Given the description of an element on the screen output the (x, y) to click on. 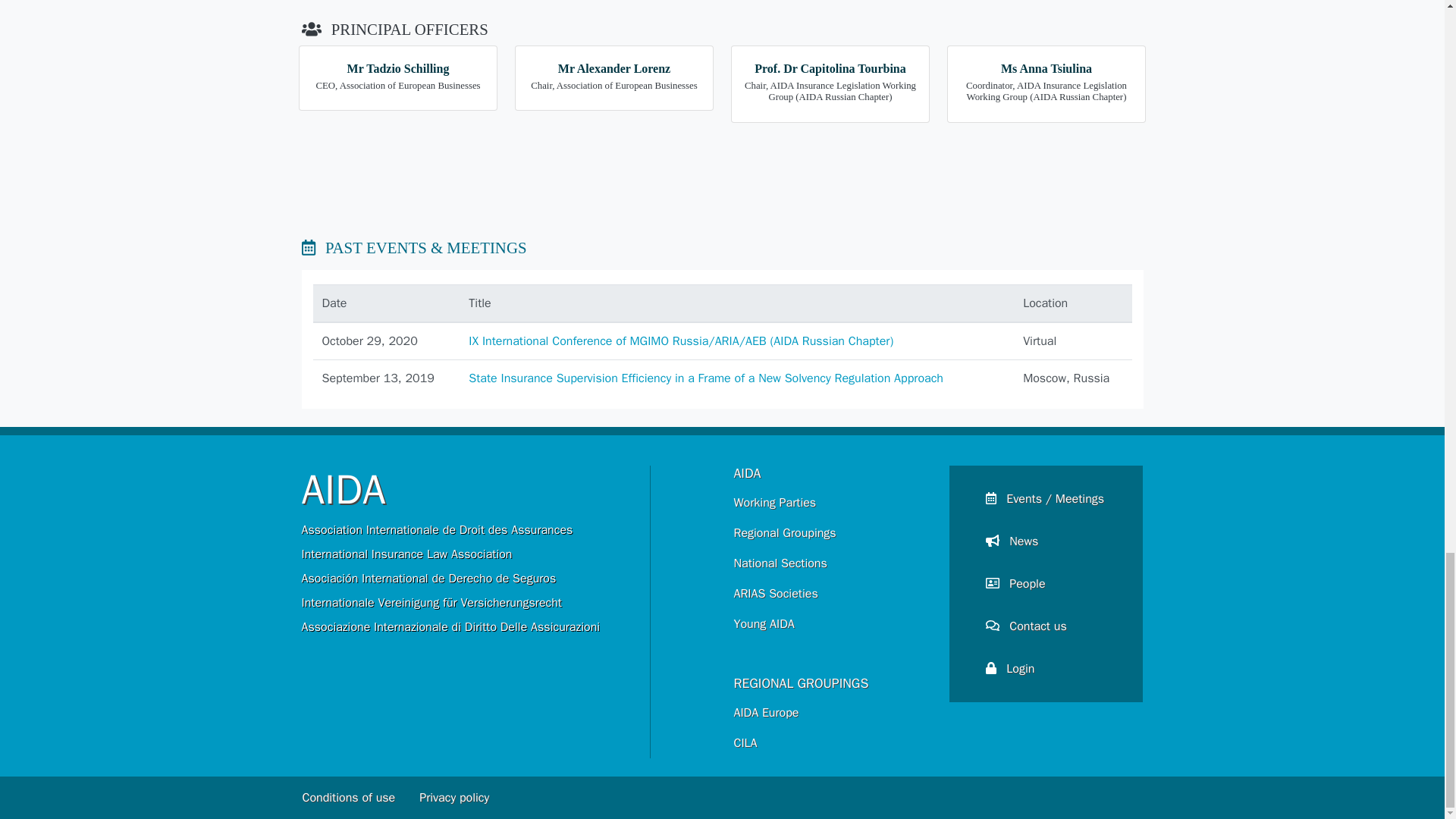
Ms Anna Tsiulina (1046, 68)
Regional Groupings (829, 532)
Mr Tadzio Schilling (398, 68)
Working Parties (829, 502)
Prof. Dr Capitolina Tourbina (829, 68)
National Sections (829, 562)
Mr Alexander Lorenz (613, 68)
